Given the description of an element on the screen output the (x, y) to click on. 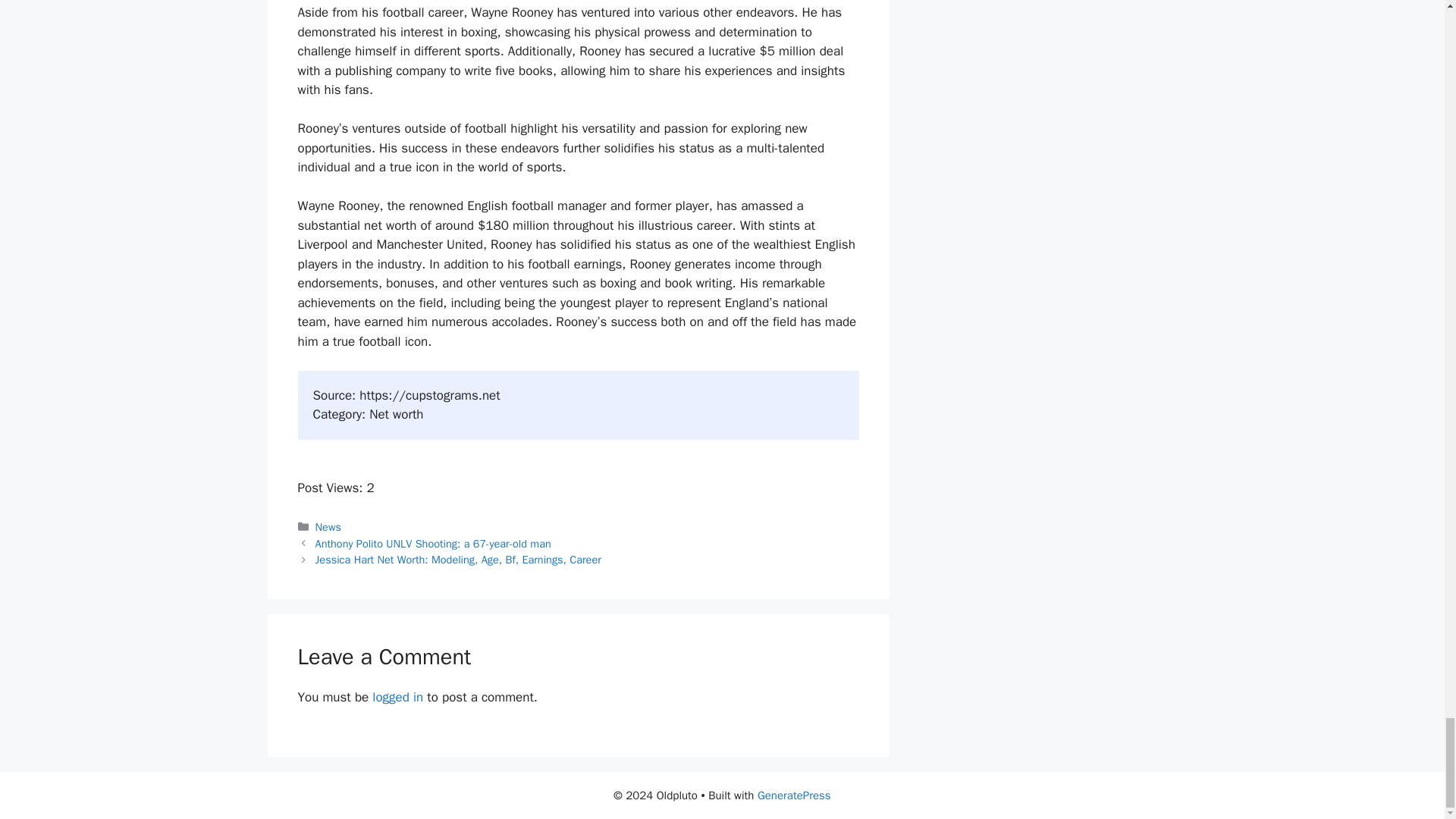
Anthony Polito UNLV Shooting: a 67-year-old man (433, 543)
News (327, 526)
GeneratePress (794, 795)
Jessica Hart Net Worth: Modeling, Age, Bf, Earnings, Career (458, 559)
logged in (397, 697)
